Given the description of an element on the screen output the (x, y) to click on. 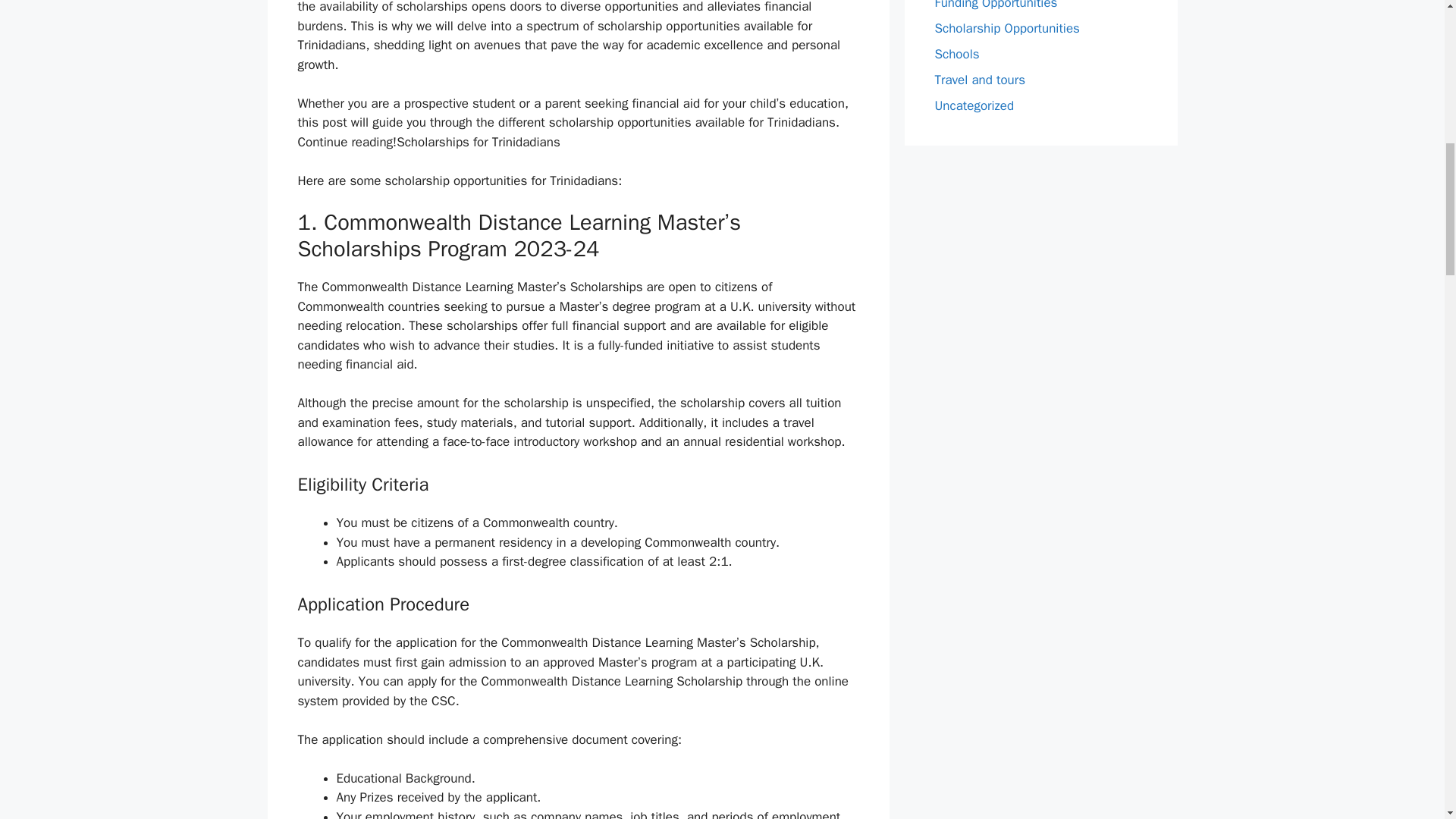
Scholarship Opportunities (1006, 28)
Funding Opportunities (995, 5)
Travel and tours (979, 79)
Uncategorized (973, 105)
Schools (956, 53)
